Given the description of an element on the screen output the (x, y) to click on. 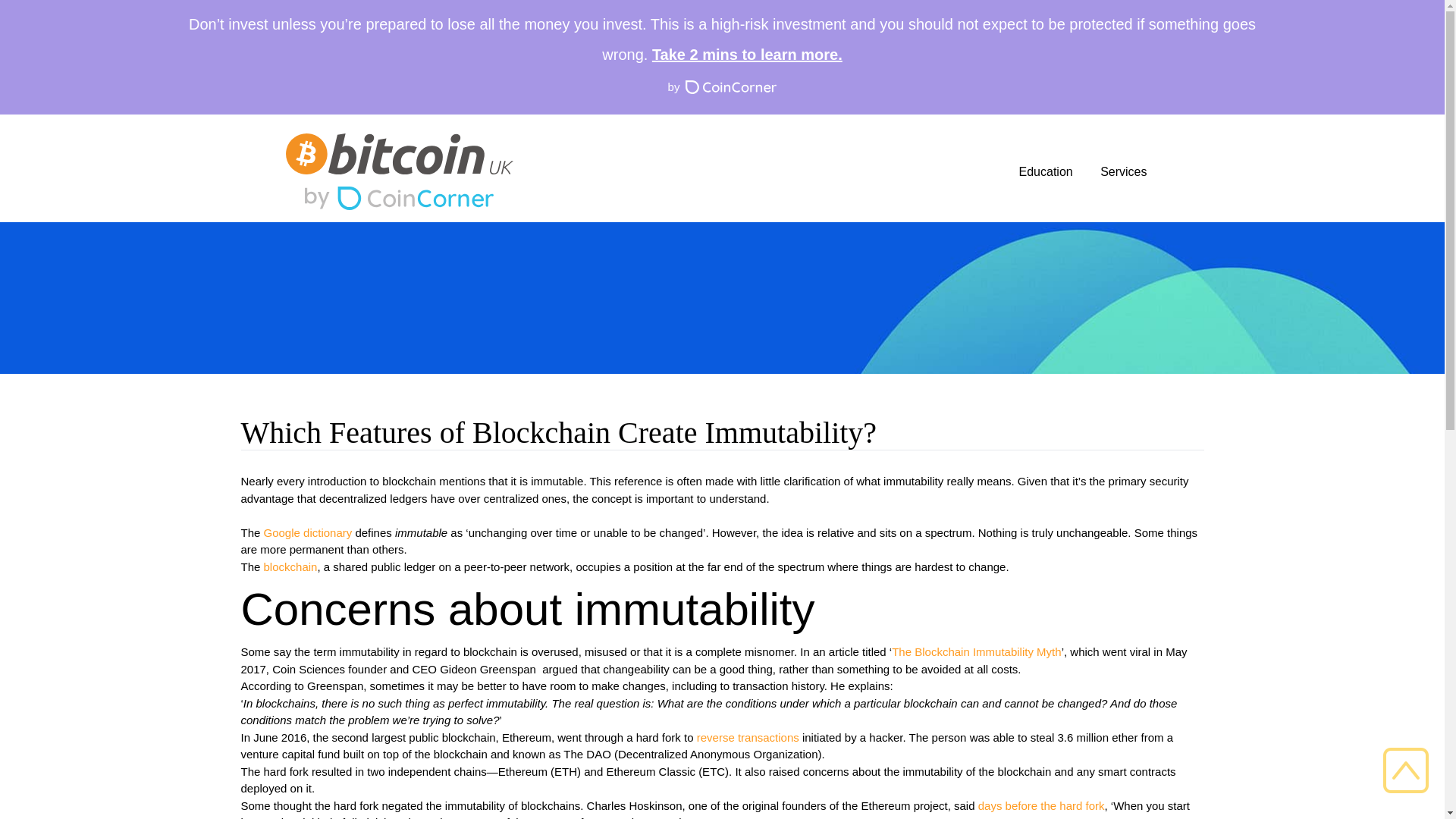
Buy Bitcoin with CoinCorner (398, 197)
by (721, 87)
blockchain (290, 566)
reverse transactions (748, 737)
The Blockchain Immutability Myth (976, 651)
Website by CoinCorner (721, 87)
Education (1046, 171)
Bitcoin UK home (398, 153)
Google dictionary (307, 532)
Services (1123, 171)
days before the hard fork (1041, 805)
Take 2 mins to learn more. (747, 54)
